Given the description of an element on the screen output the (x, y) to click on. 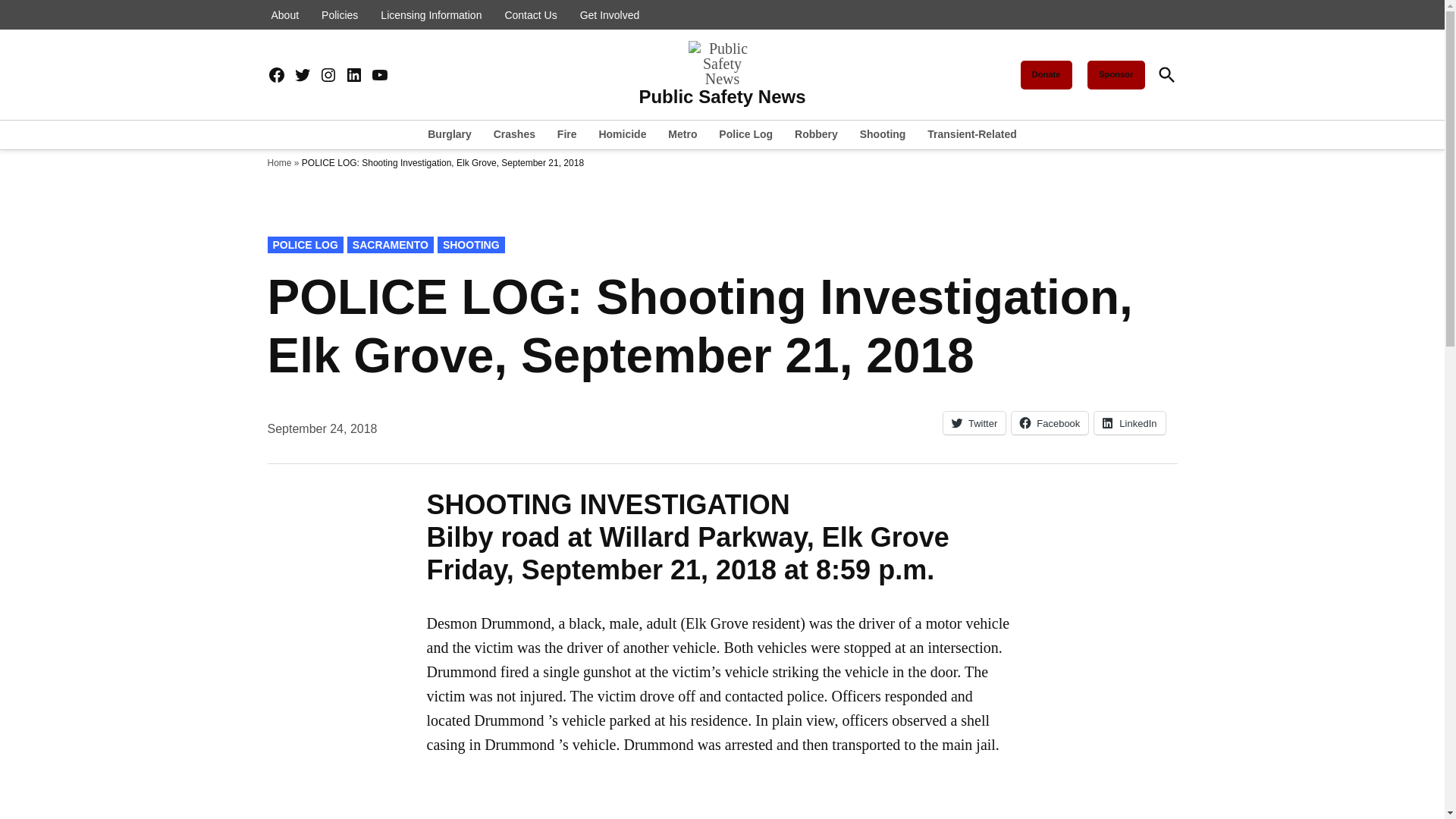
Click to share on LinkedIn (1129, 422)
Donate (1045, 74)
Click to share on Facebook (1049, 422)
YouTube (378, 75)
Instagram (327, 75)
Licensing Information (430, 14)
Linkedin (352, 75)
Sponsor (1115, 74)
Click to share on Twitter (974, 422)
Public Safety News (722, 96)
